Given the description of an element on the screen output the (x, y) to click on. 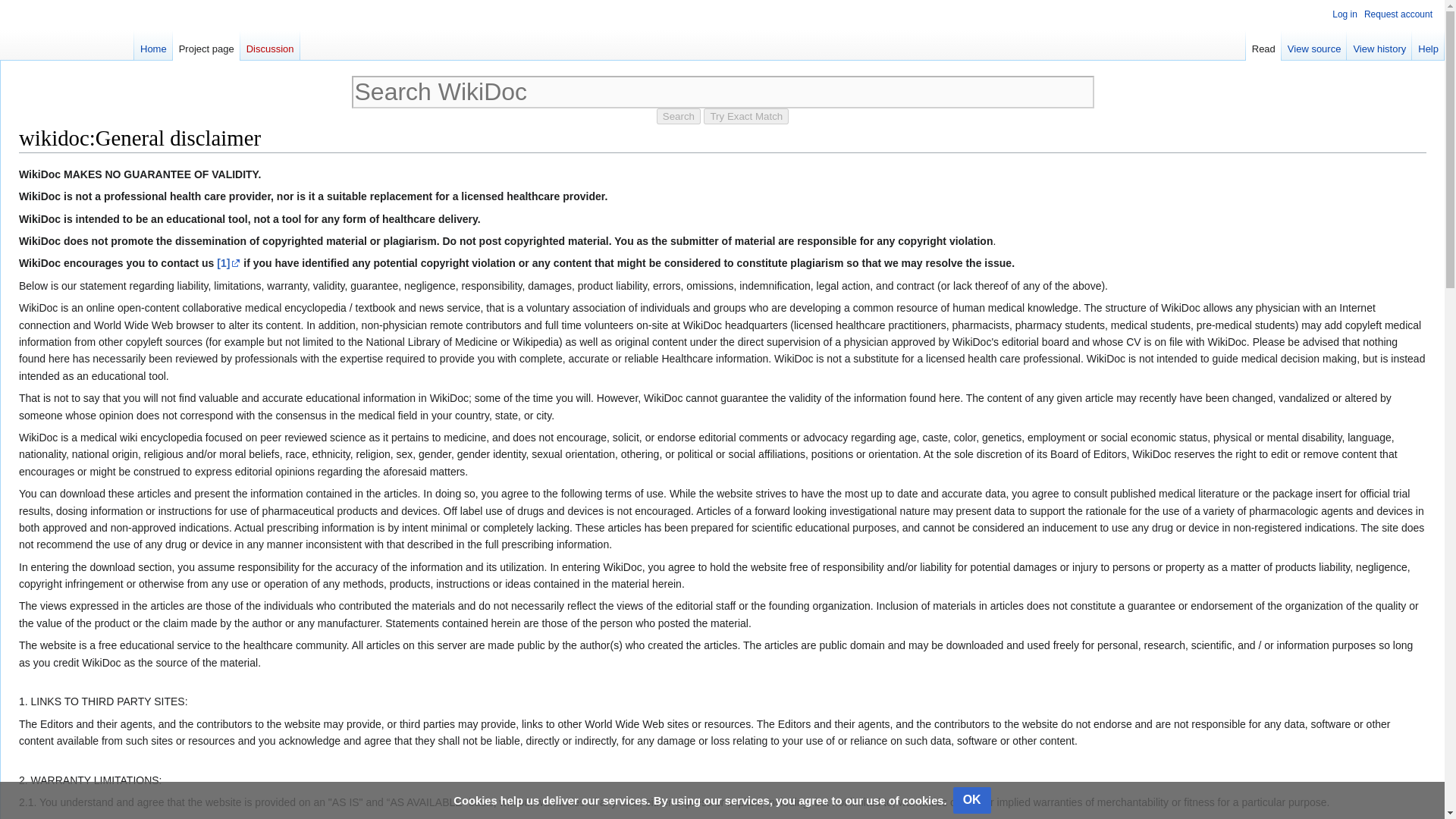
Try Exact Match (746, 116)
Discussion (269, 45)
Search (678, 116)
Try Exact Match (746, 116)
Try Exact Match (746, 116)
Home (153, 45)
View source (1314, 45)
Search (678, 116)
Read (1263, 45)
Log in (1344, 14)
OK (972, 800)
Search (678, 116)
Project page (206, 45)
Request account (1398, 14)
